Given the description of an element on the screen output the (x, y) to click on. 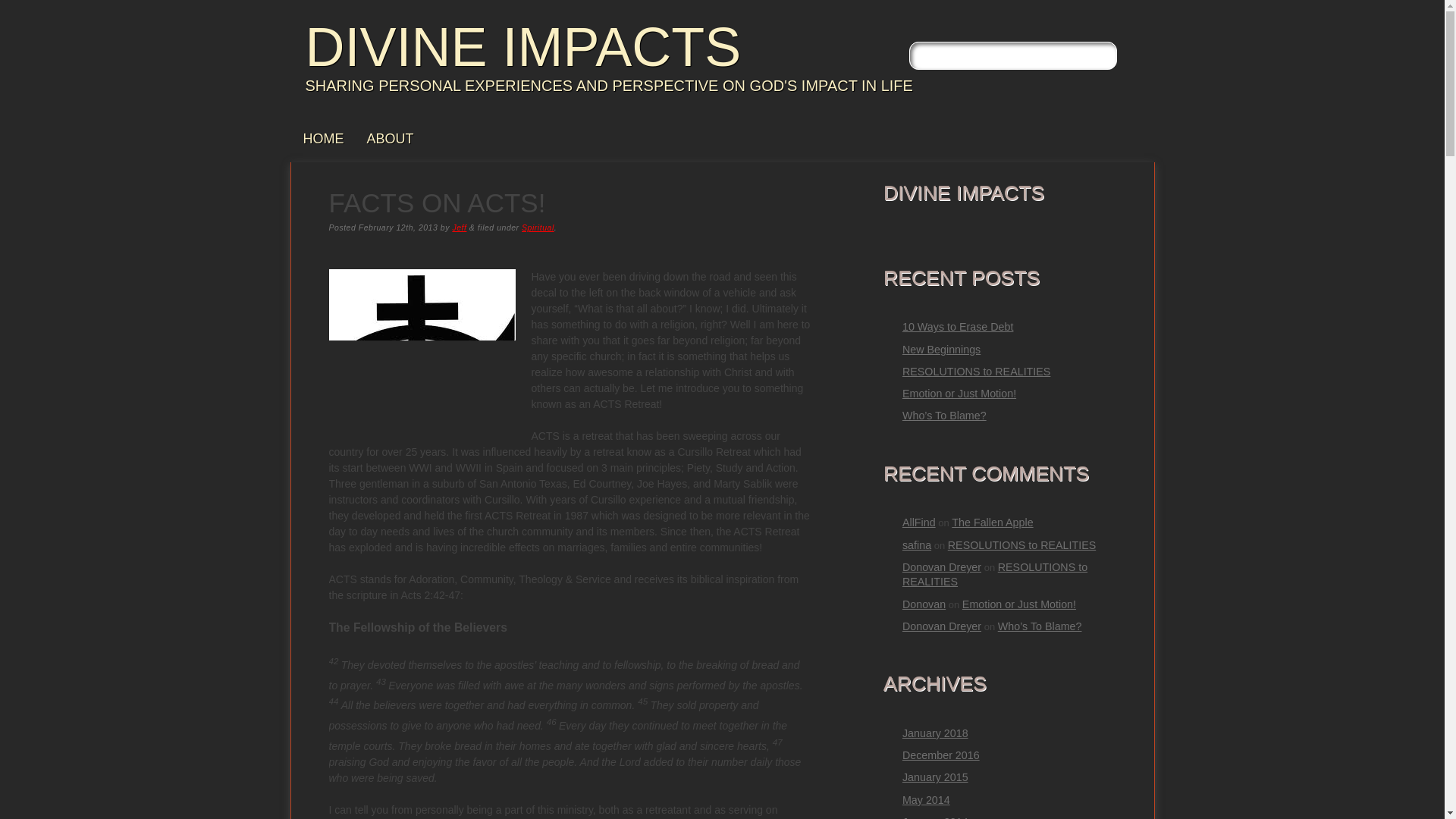
DIVINE IMPACTS (522, 46)
Search (22, 8)
Jeff (458, 226)
HOME (323, 139)
ABOUT (390, 139)
Posts by Jeff (458, 226)
Spiritual (537, 226)
